Given the description of an element on the screen output the (x, y) to click on. 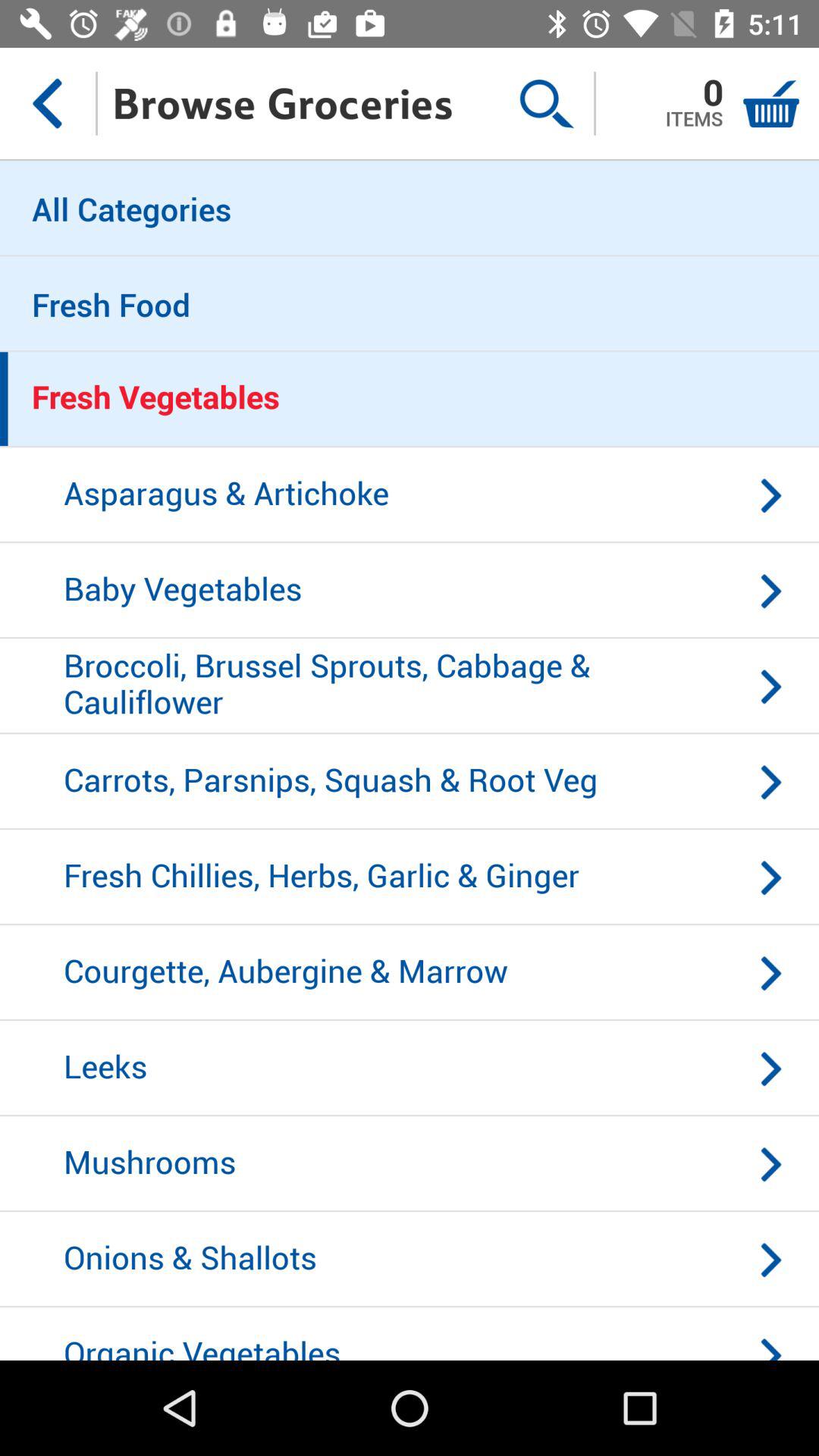
swipe to the organic vegetables (409, 1333)
